Given the description of an element on the screen output the (x, y) to click on. 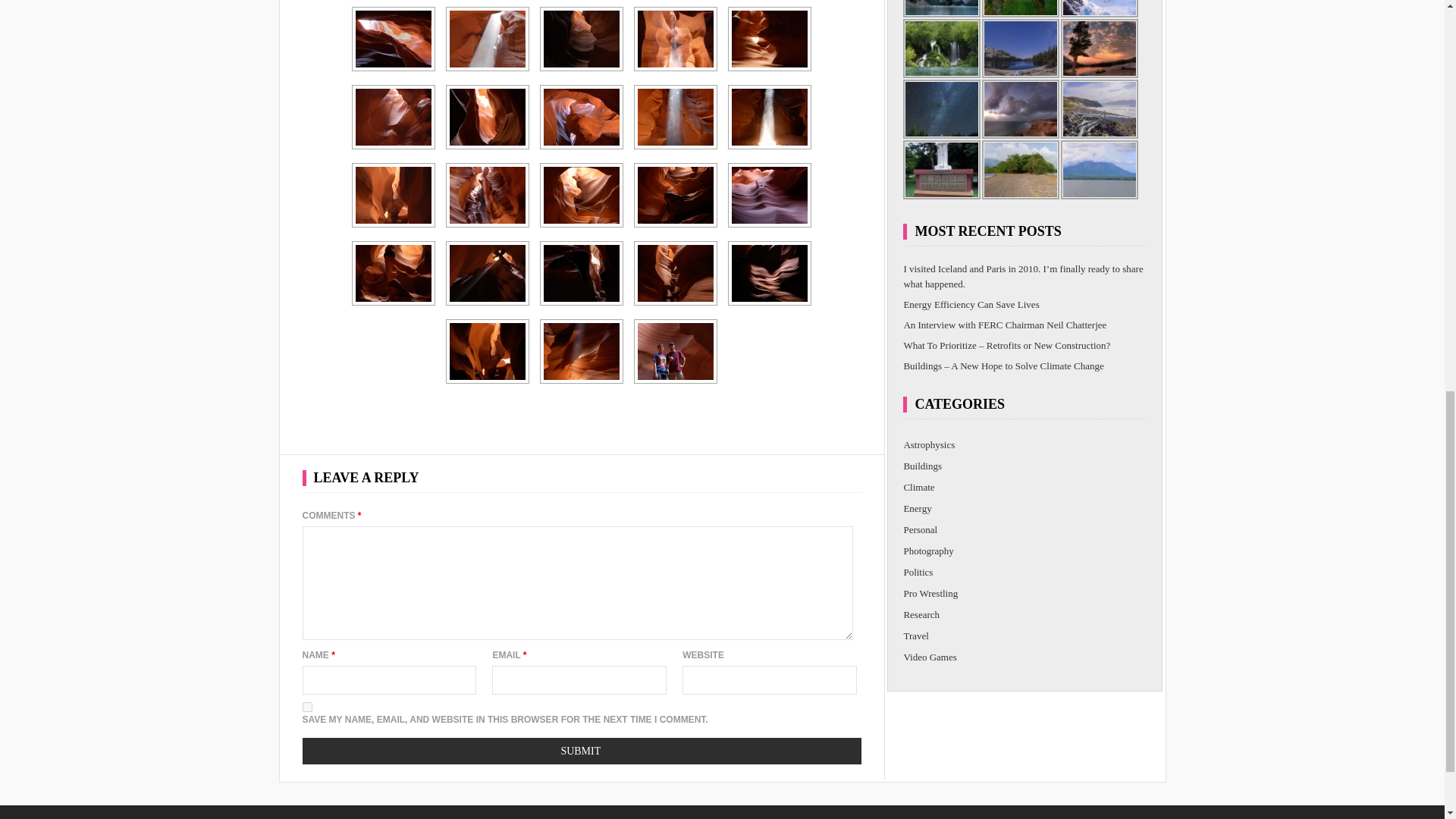
Submit  (581, 750)
yes (306, 706)
antelope-canyon-light-beam-from-the-ceiling-bright (487, 38)
antelope-canyon-03 (581, 38)
antelope-canyon-layers-of-color (392, 38)
